Given the description of an element on the screen output the (x, y) to click on. 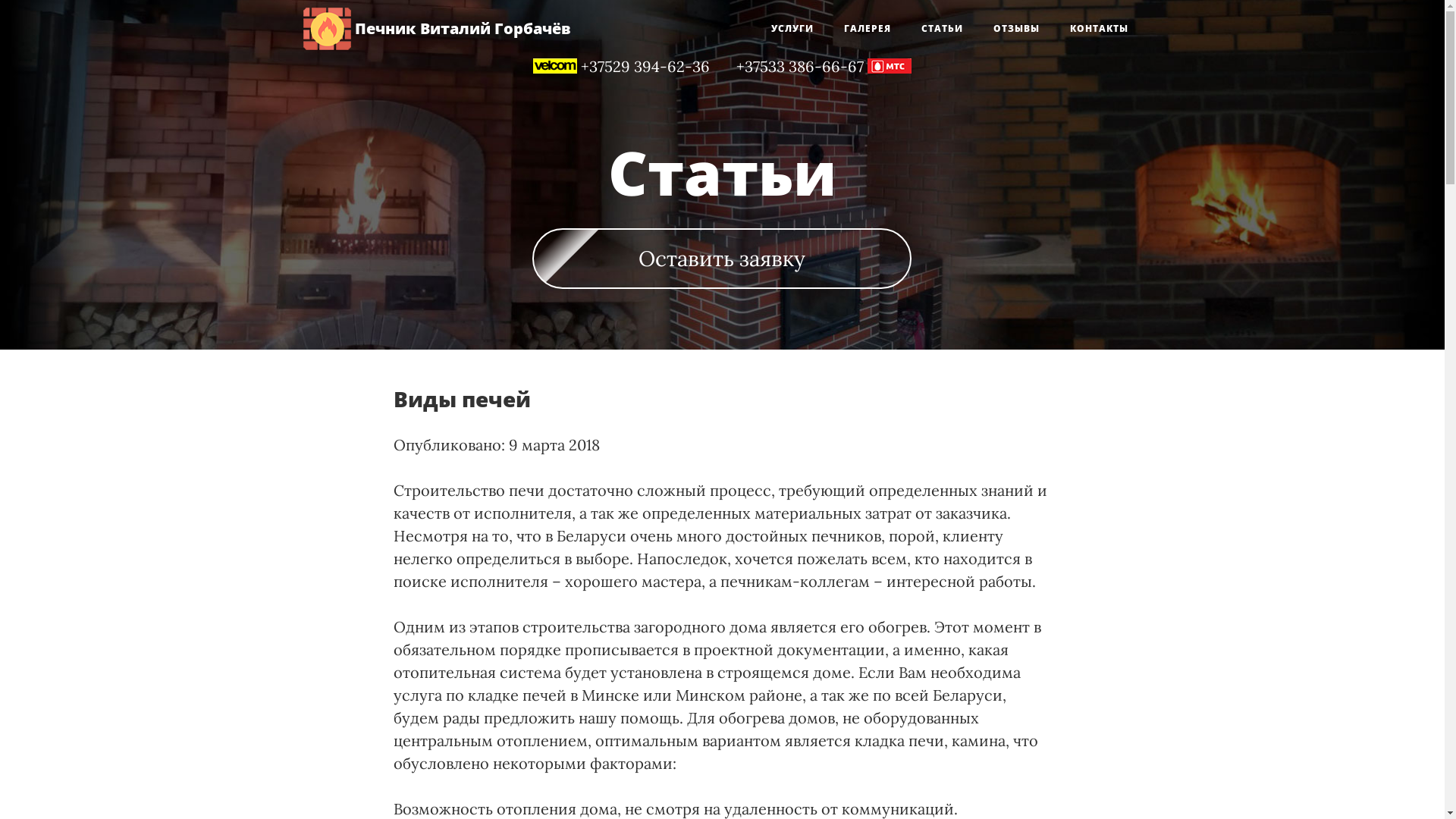
+37529 394-62-36 Element type: text (650, 65)
+37533 386-66-67 Element type: text (793, 65)
